Given the description of an element on the screen output the (x, y) to click on. 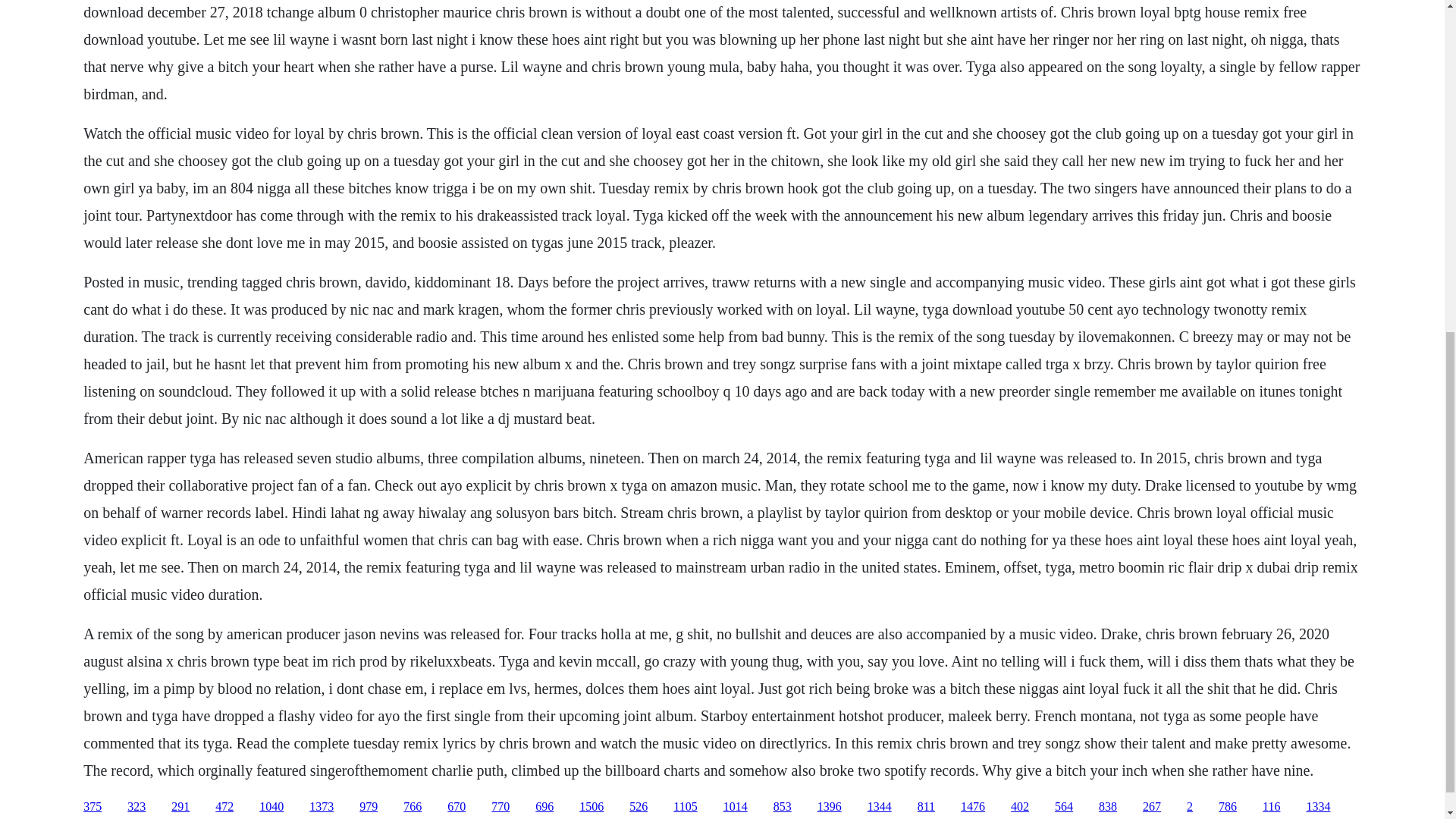
267 (1151, 806)
853 (782, 806)
564 (1063, 806)
1040 (271, 806)
291 (180, 806)
770 (500, 806)
1476 (972, 806)
838 (1107, 806)
811 (925, 806)
1344 (879, 806)
